Given the description of an element on the screen output the (x, y) to click on. 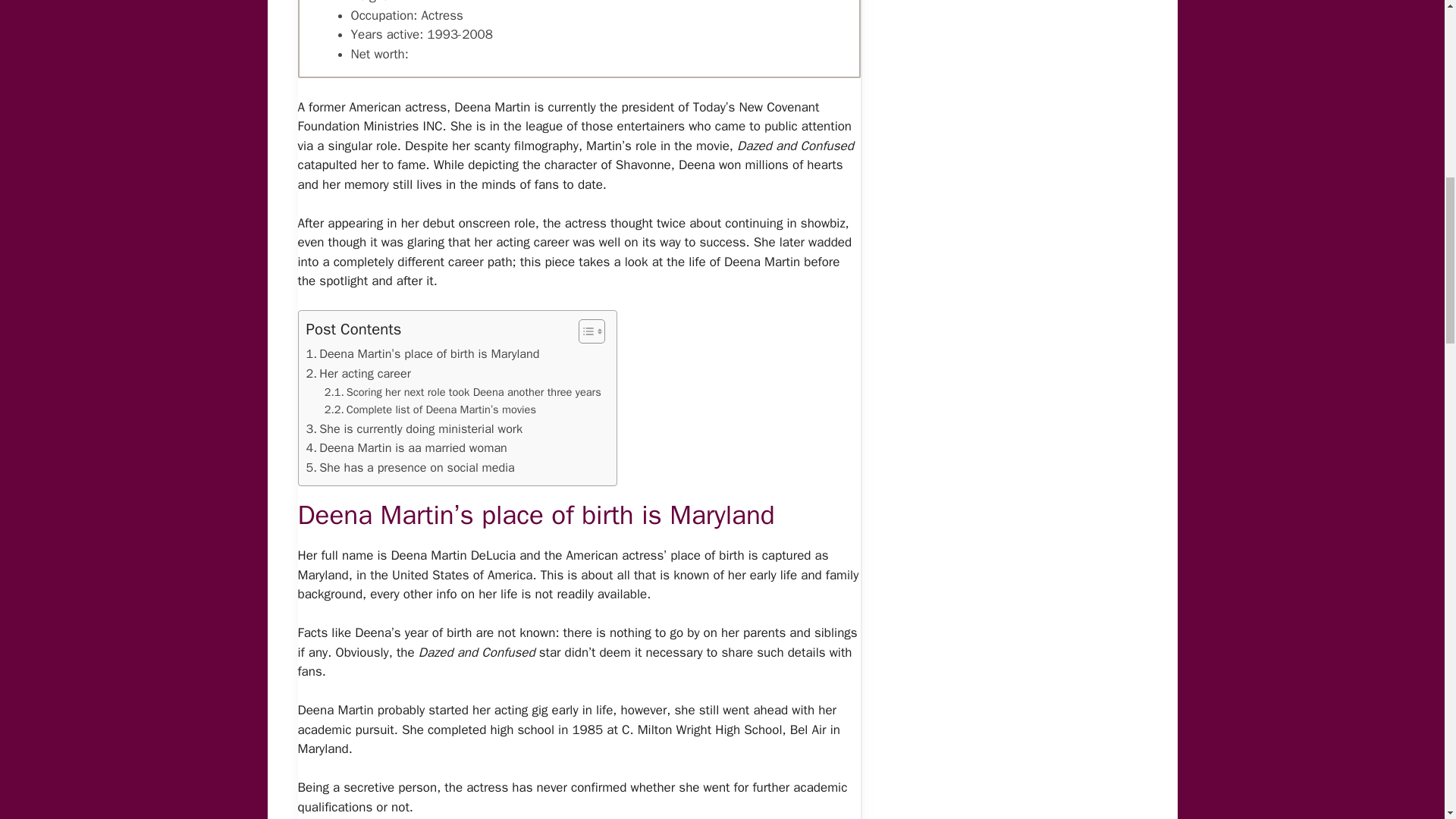
Deena Martin is aa married woman (405, 447)
She has a presence on social media (410, 467)
She has a presence on social media (410, 467)
Scoring her next role took Deena another three years (462, 392)
Her acting career (357, 373)
She is currently doing ministerial work (413, 428)
Scoring her next role took Deena another three years (462, 392)
She is currently doing ministerial work (413, 428)
Deena Martin is aa married woman (405, 447)
Her acting career (357, 373)
